Given the description of an element on the screen output the (x, y) to click on. 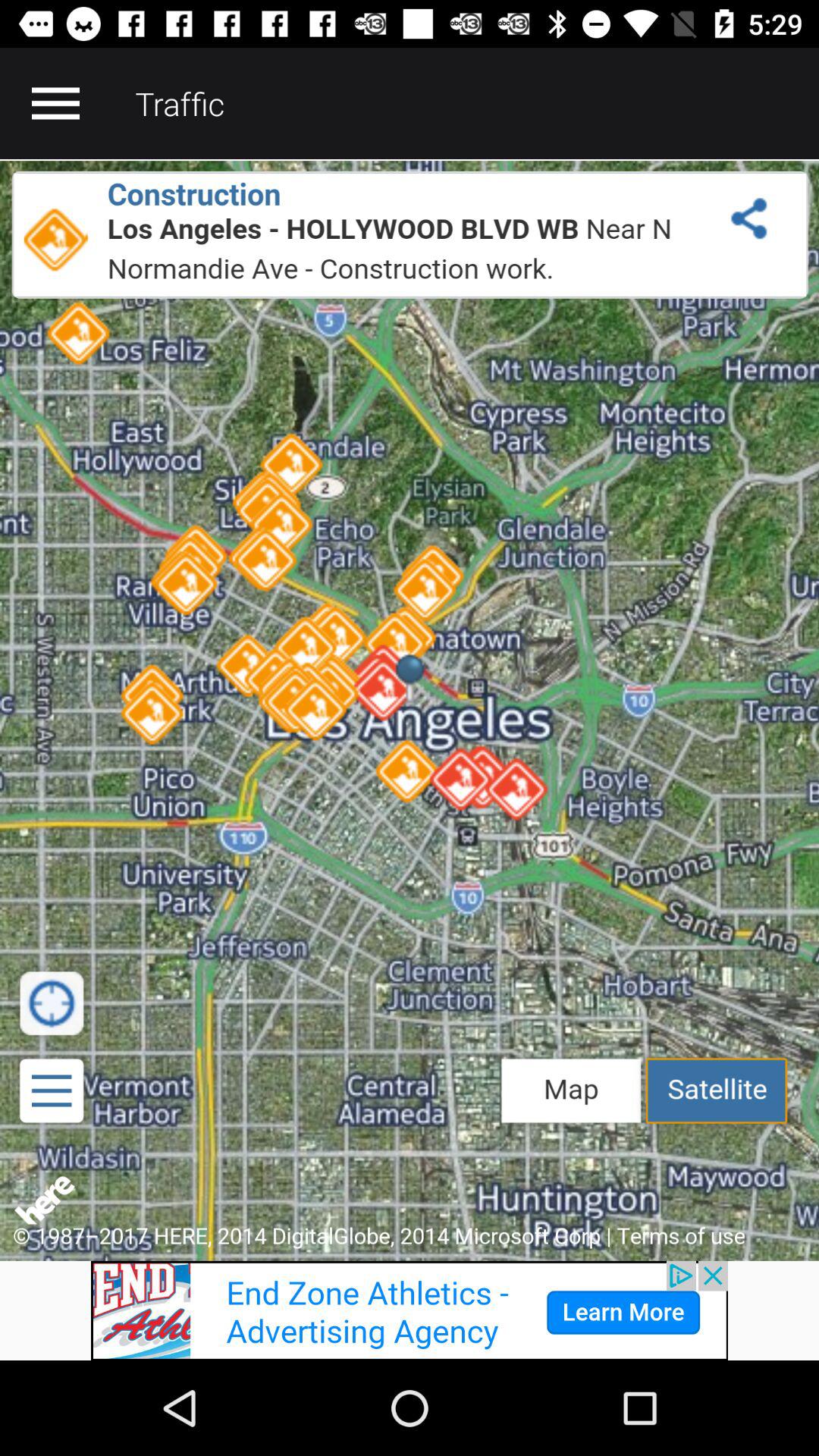
losangles map area (409, 709)
